Given the description of an element on the screen output the (x, y) to click on. 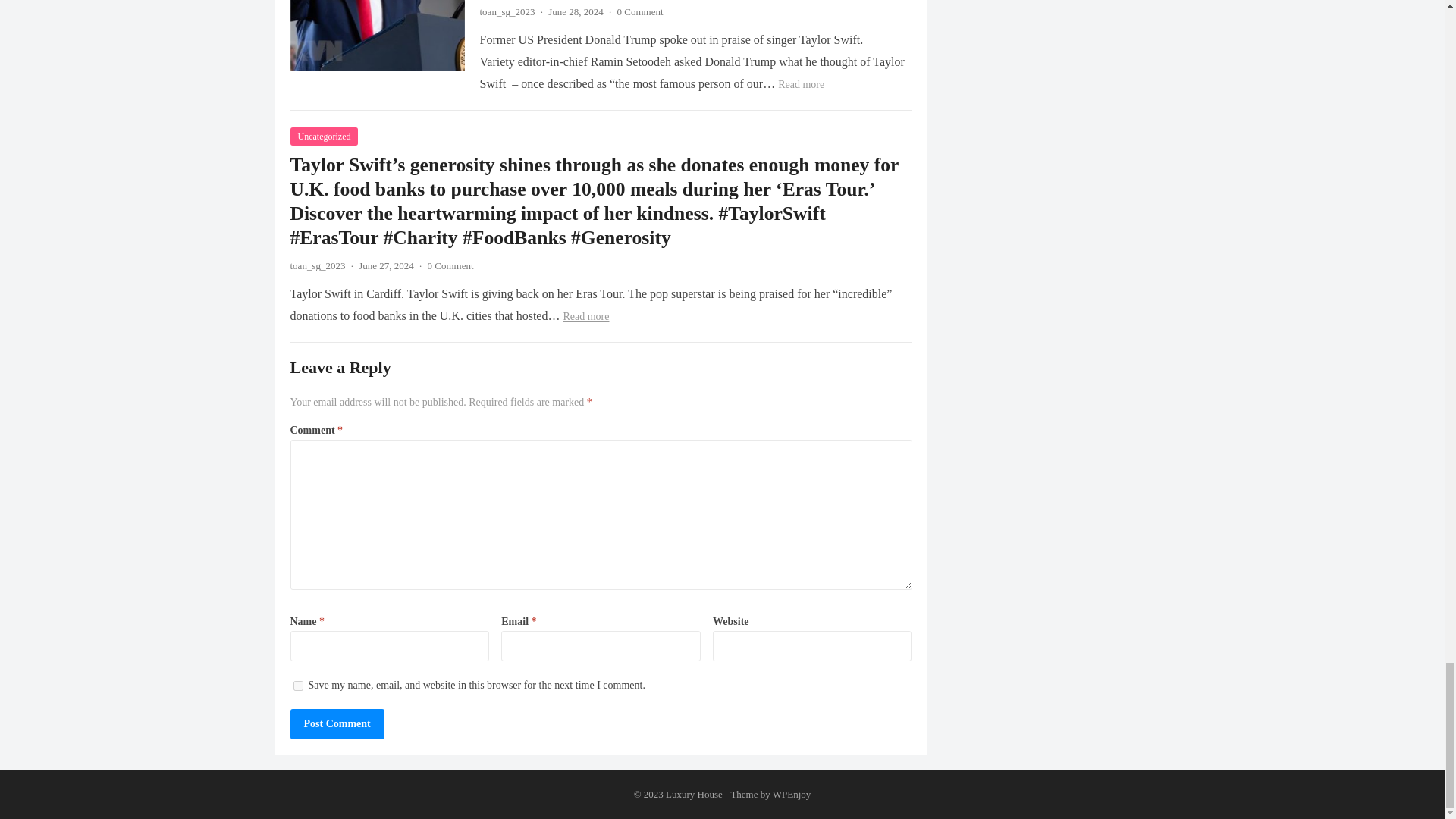
Post Comment (336, 724)
yes (297, 685)
